Given the description of an element on the screen output the (x, y) to click on. 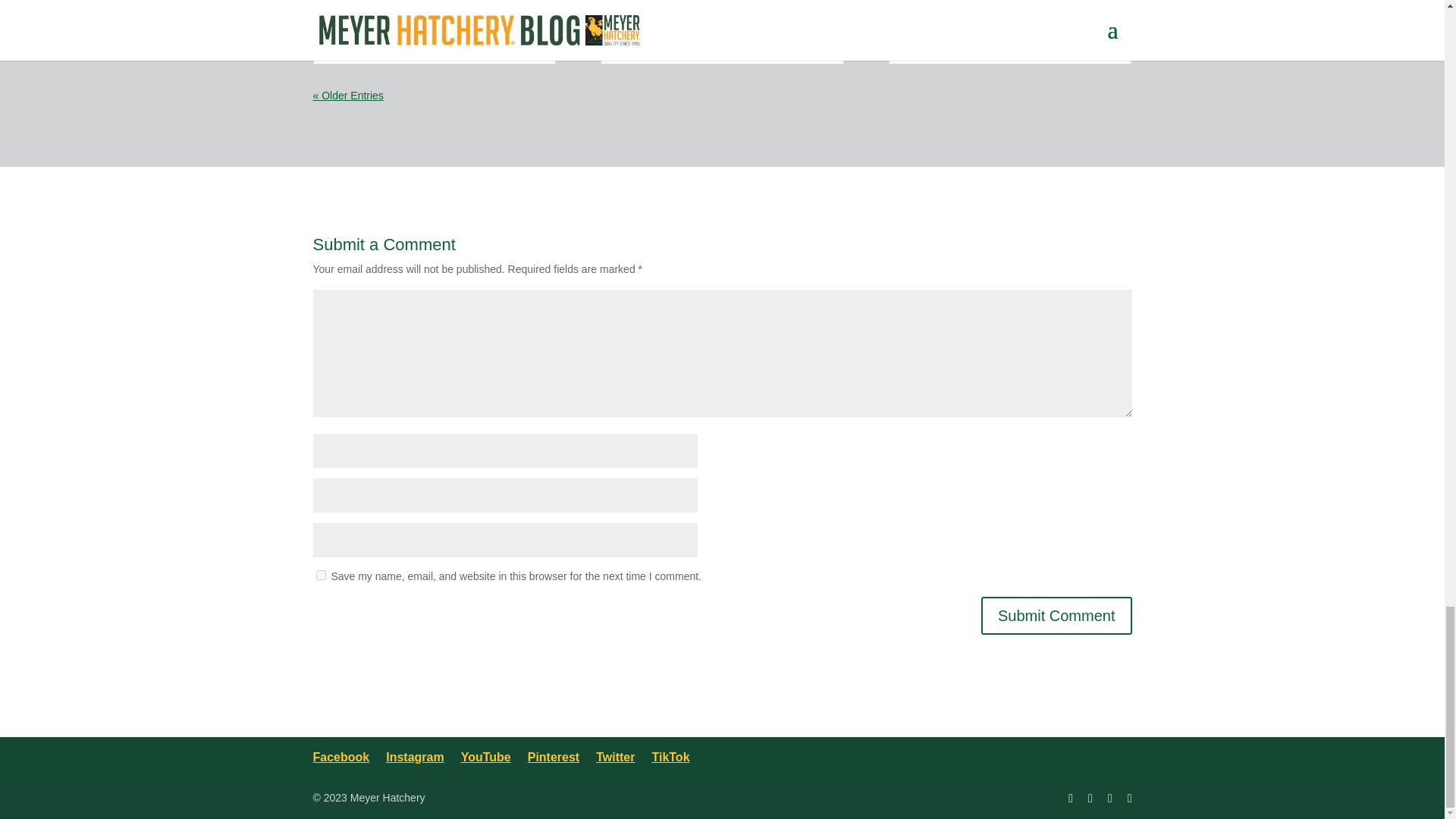
Submit Comment (1056, 615)
yes (319, 574)
